Given the description of an element on the screen output the (x, y) to click on. 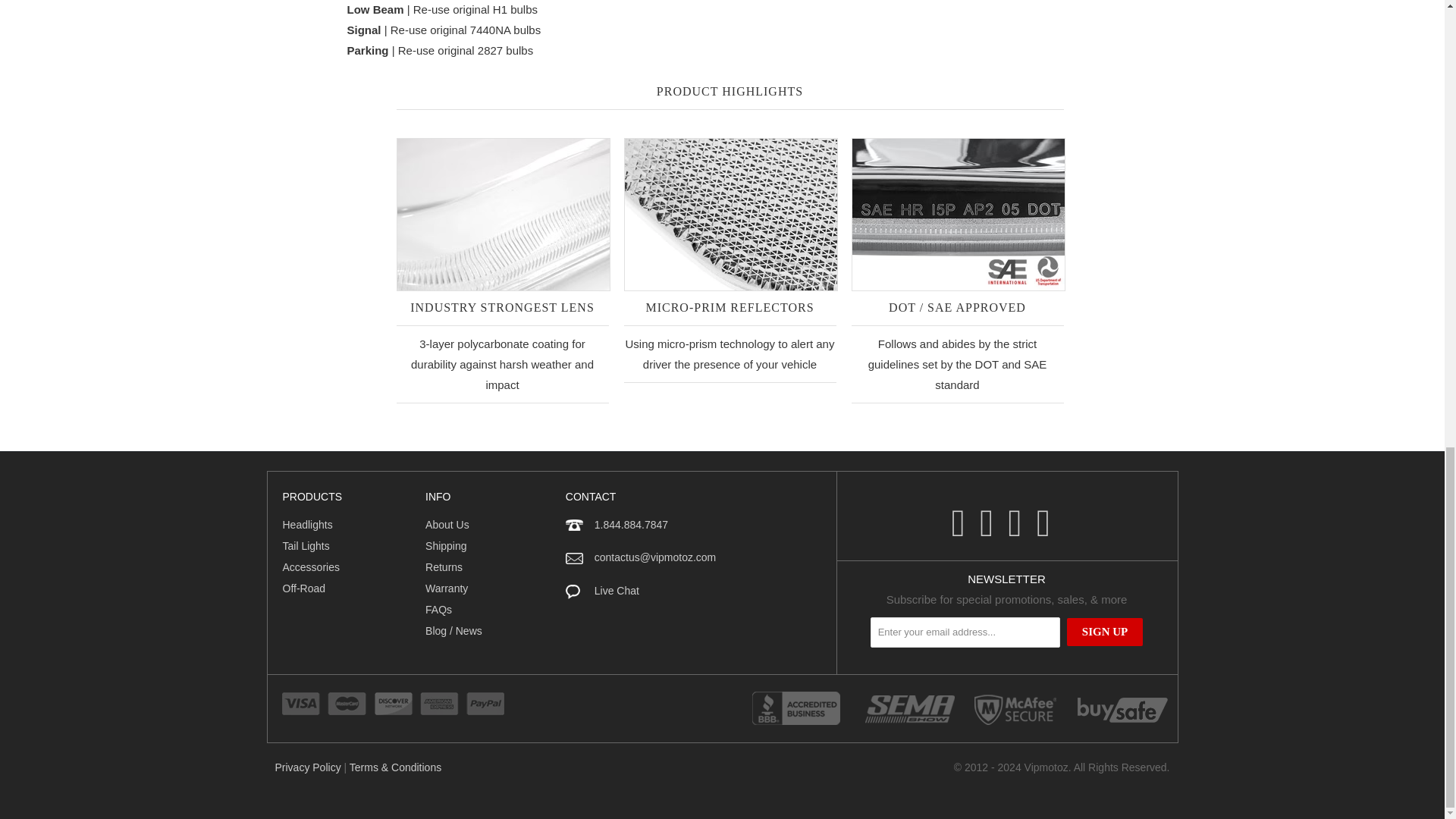
Sign Up (1104, 632)
